Given the description of an element on the screen output the (x, y) to click on. 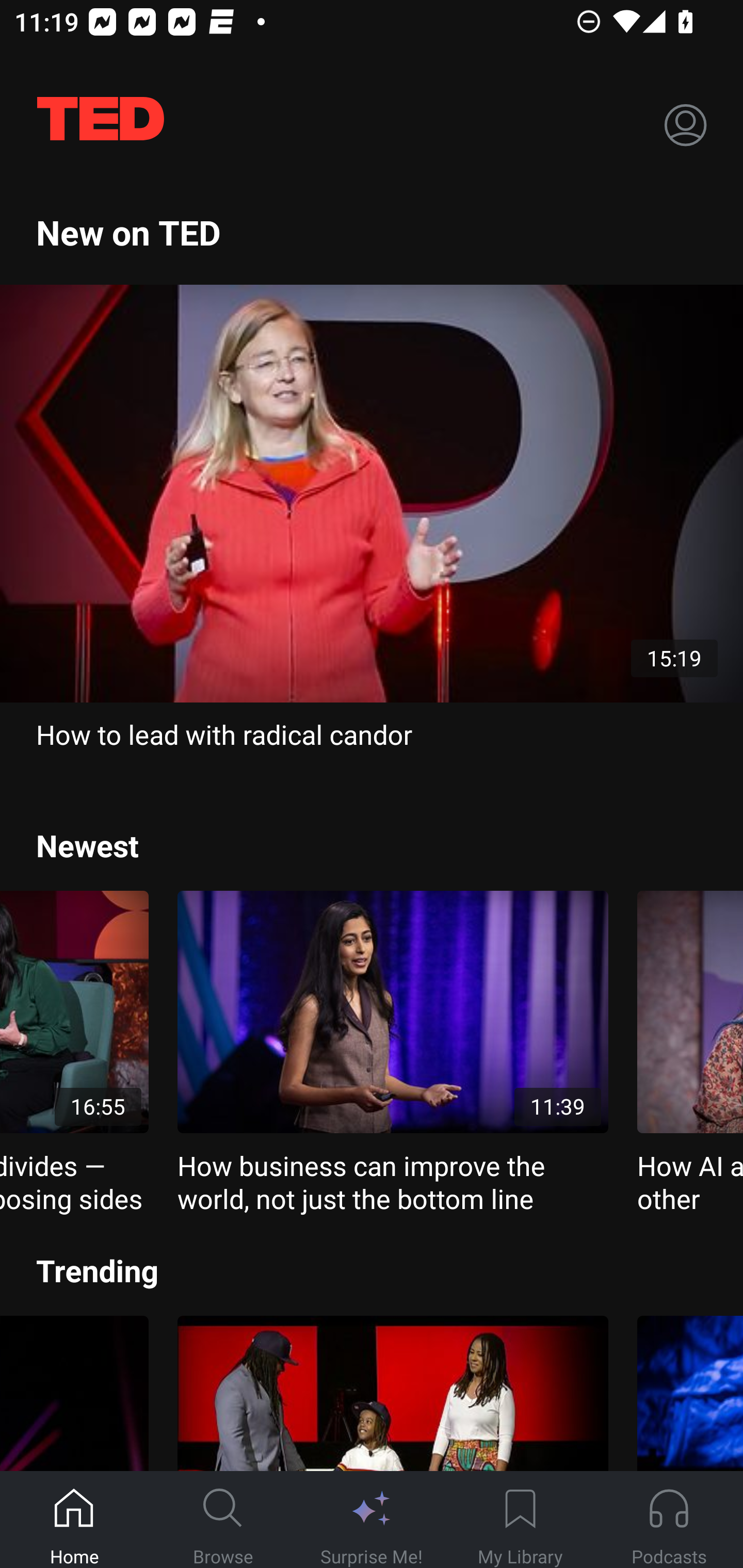
Home (74, 1520)
Browse (222, 1520)
Surprise Me! (371, 1520)
My Library (519, 1520)
Podcasts (668, 1520)
